Given the description of an element on the screen output the (x, y) to click on. 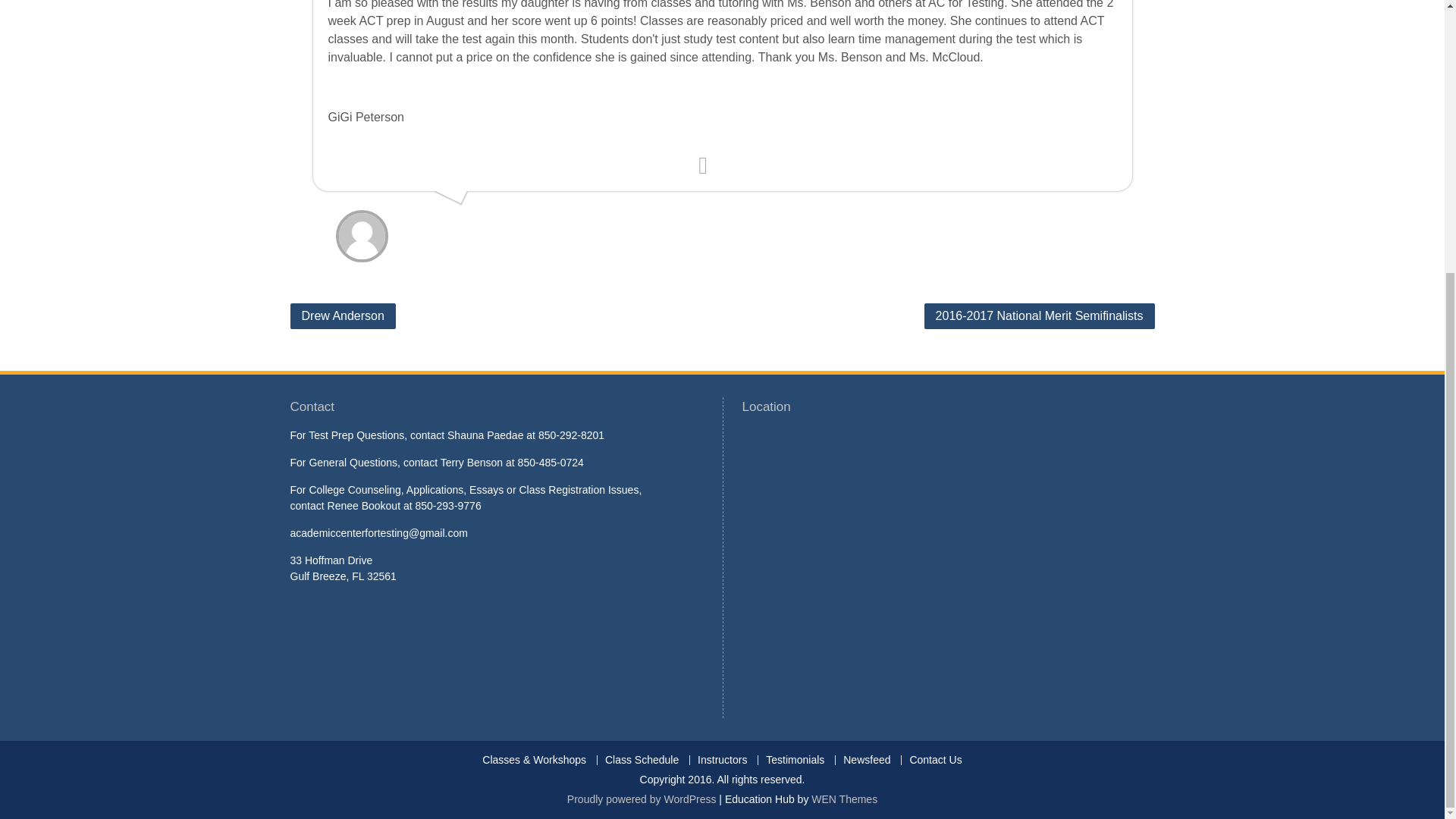
Newsfeed (866, 759)
Proudly powered by WordPress (641, 799)
WEN Themes (843, 799)
Testimonials (794, 759)
2016-2017 National Merit Semifinalists (1039, 316)
Class Schedule (640, 759)
Drew Anderson (341, 316)
Instructors (721, 759)
Contact Us (935, 759)
